Given the description of an element on the screen output the (x, y) to click on. 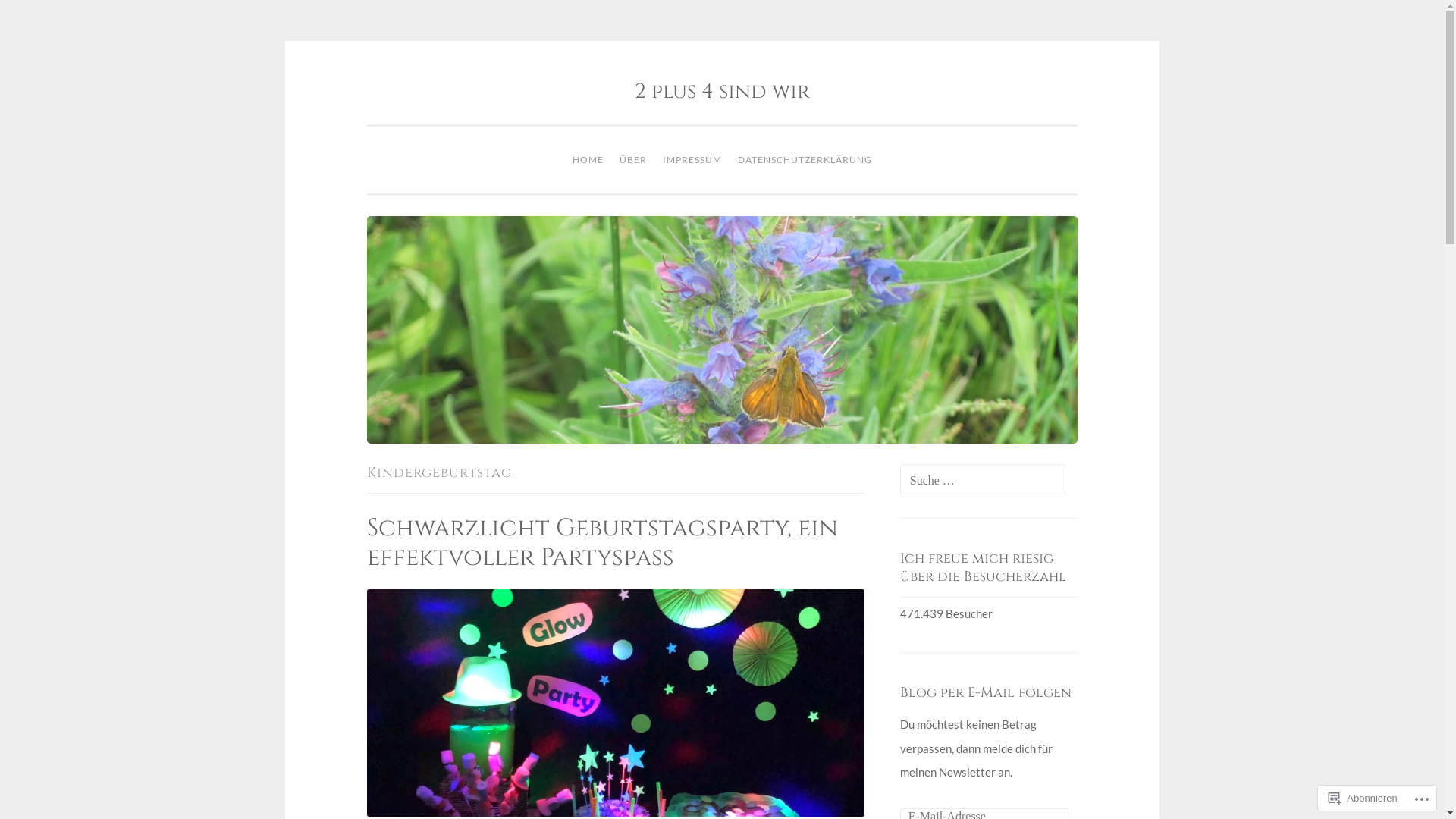
Abonnieren Element type: text (1362, 797)
HOME Element type: text (587, 159)
2 plus 4 sind wir Element type: text (721, 91)
Suche Element type: text (34, 17)
IMPRESSUM Element type: text (691, 159)
